Given the description of an element on the screen output the (x, y) to click on. 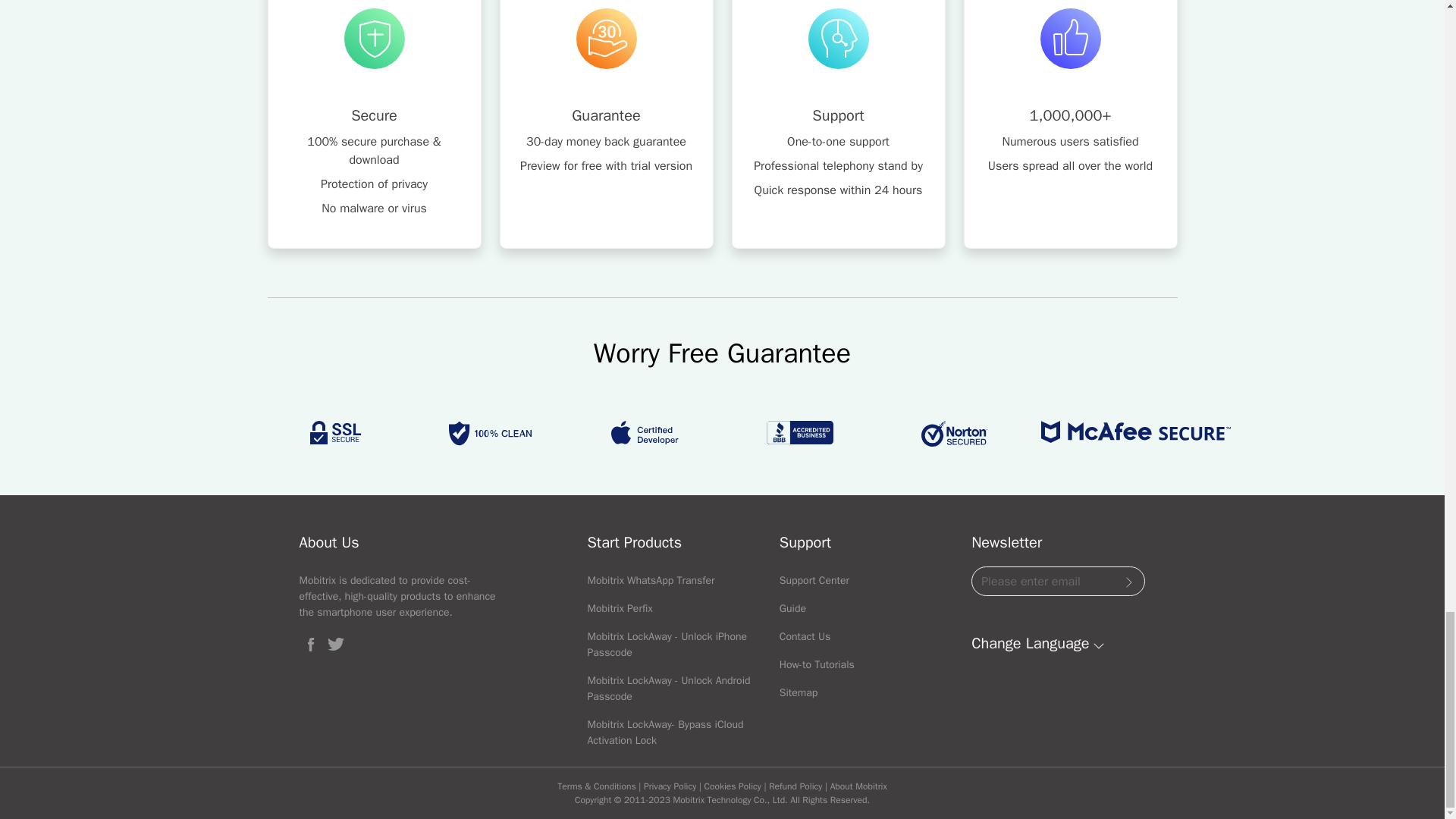
Mobitrix LockAway - Unlock Android Passcode (667, 688)
Support Center (813, 580)
Guide (792, 608)
Mobitrix WhatsApp Transfer (650, 580)
Mobitrix LockAway- Bypass iCloud Activation Lock (664, 732)
Mobitrix Perfix (619, 608)
Mobitrix LockAway - Unlock iPhone Passcode (666, 644)
